Given the description of an element on the screen output the (x, y) to click on. 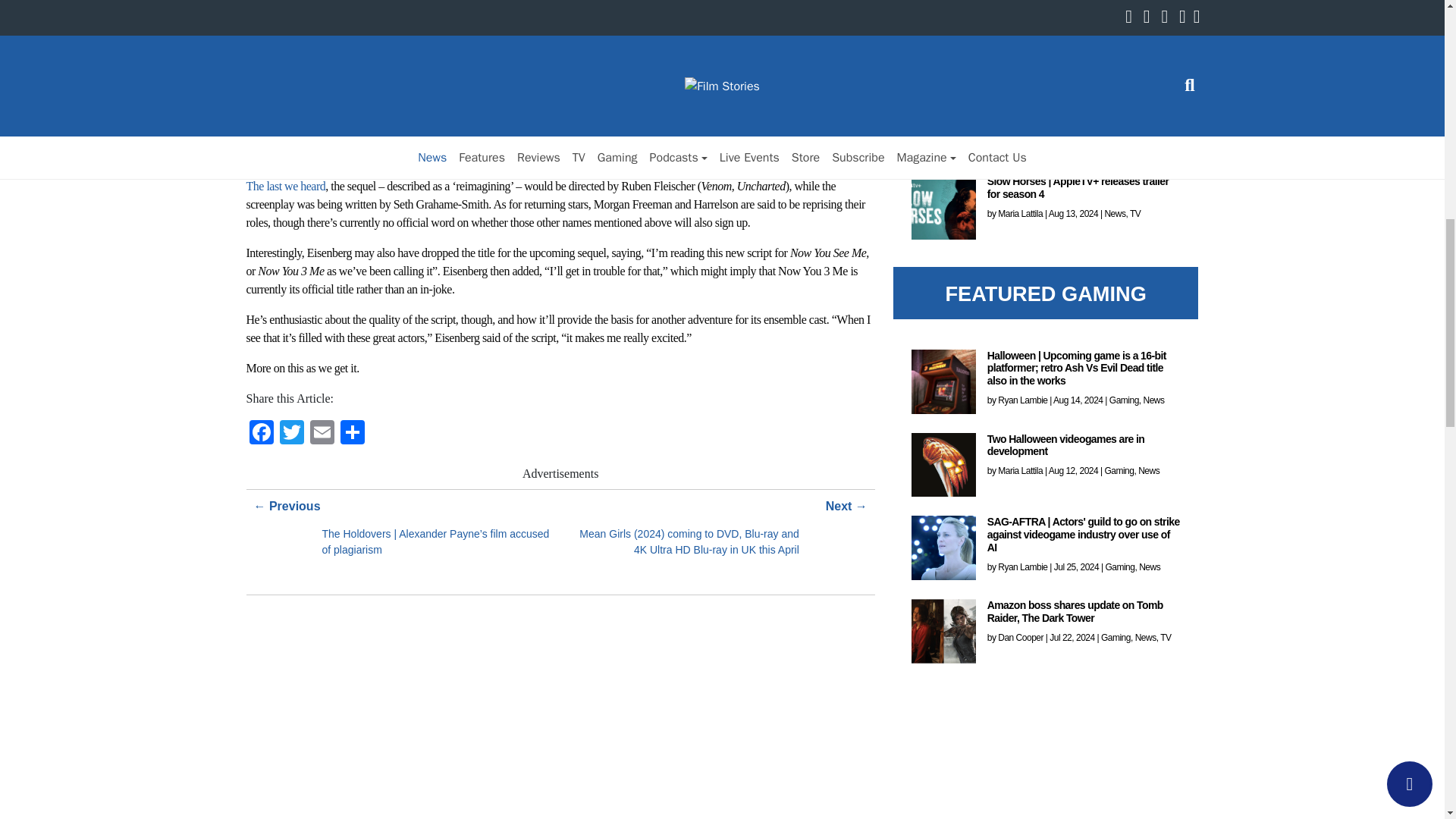
Facebook (261, 436)
Twitter (290, 436)
Email (320, 436)
Facebook (261, 436)
The last we heard (285, 185)
Twitter (290, 436)
